Given the description of an element on the screen output the (x, y) to click on. 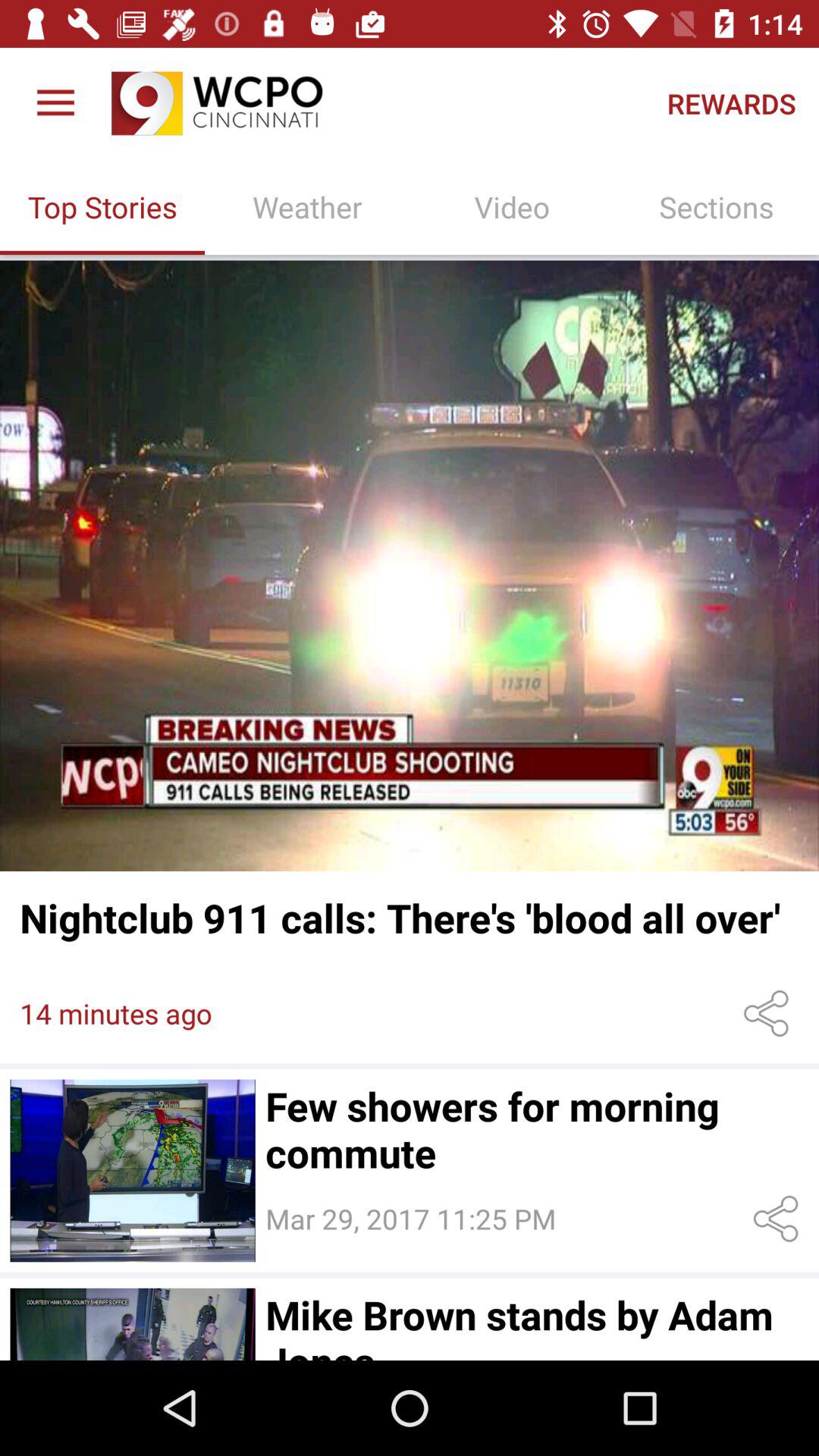
view this article (132, 1324)
